Given the description of an element on the screen output the (x, y) to click on. 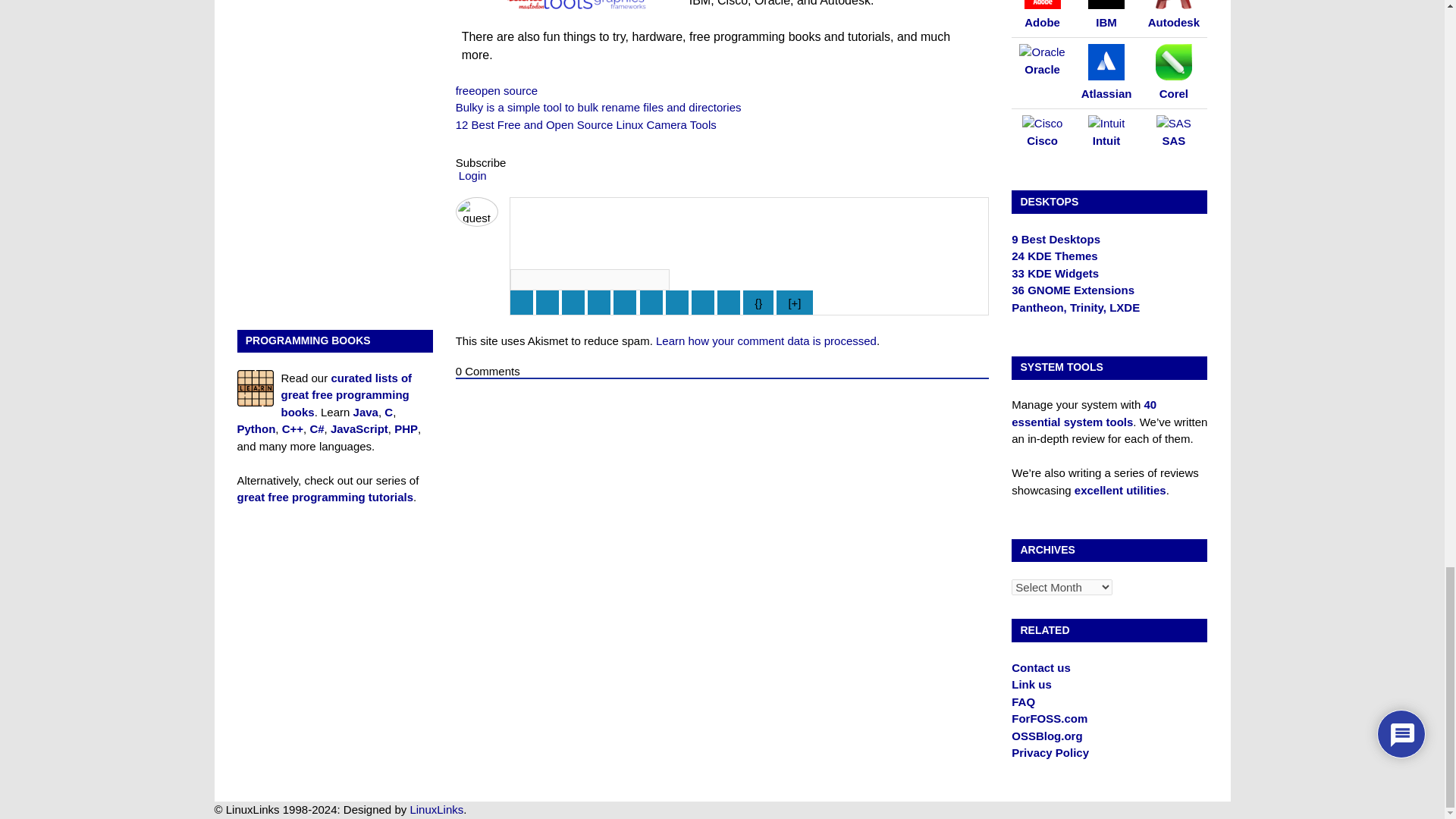
Strike (599, 302)
Link (728, 302)
Bold (521, 302)
Underline (573, 302)
Source Code (757, 302)
Code Block (702, 302)
Ordered List (624, 302)
Spoiler (794, 302)
Unordered List (651, 302)
Login (470, 174)
Blockquote (676, 302)
open source (507, 90)
free (465, 90)
Italic (547, 302)
